Given the description of an element on the screen output the (x, y) to click on. 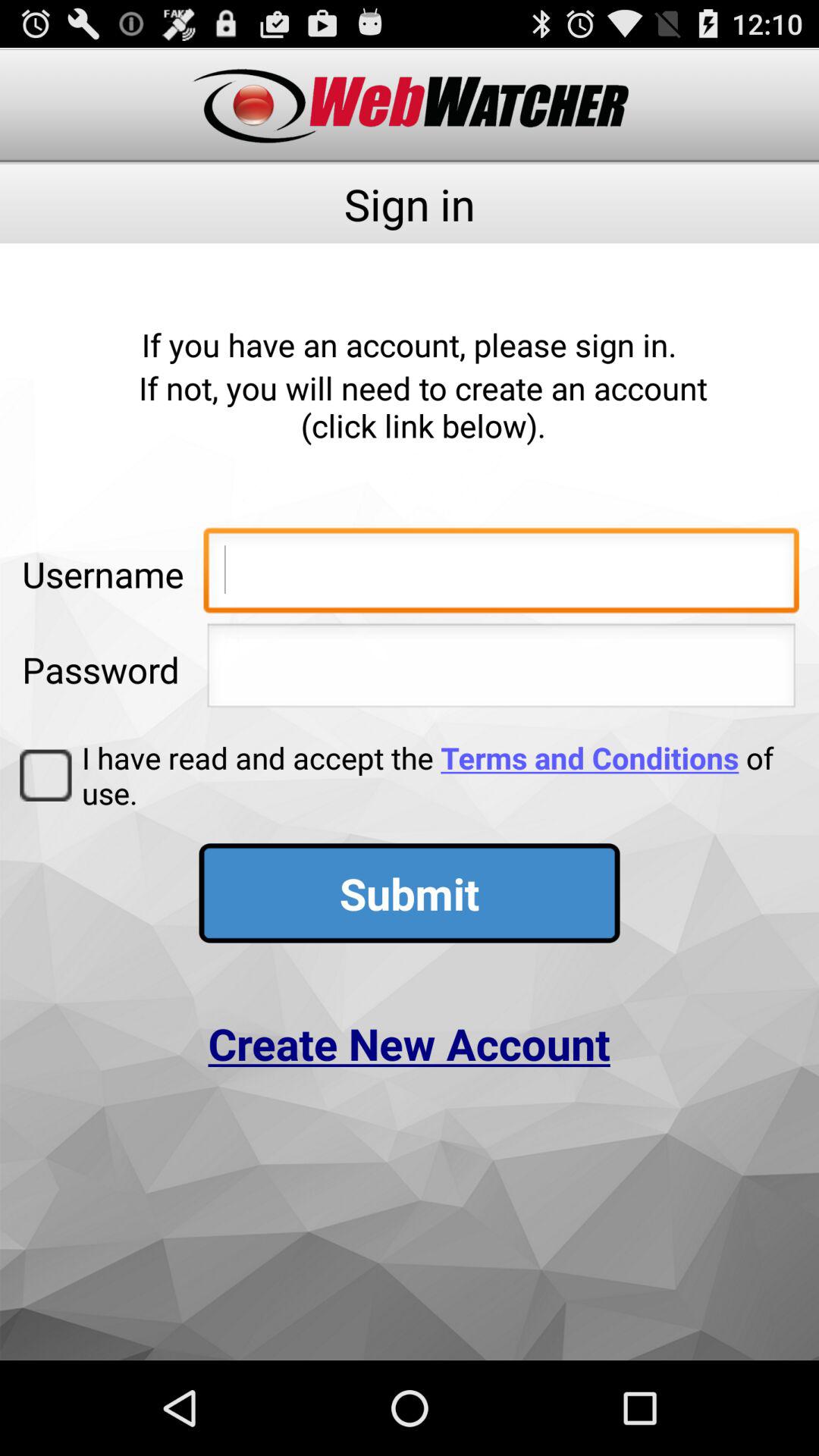
open the i have read app (435, 775)
